Given the description of an element on the screen output the (x, y) to click on. 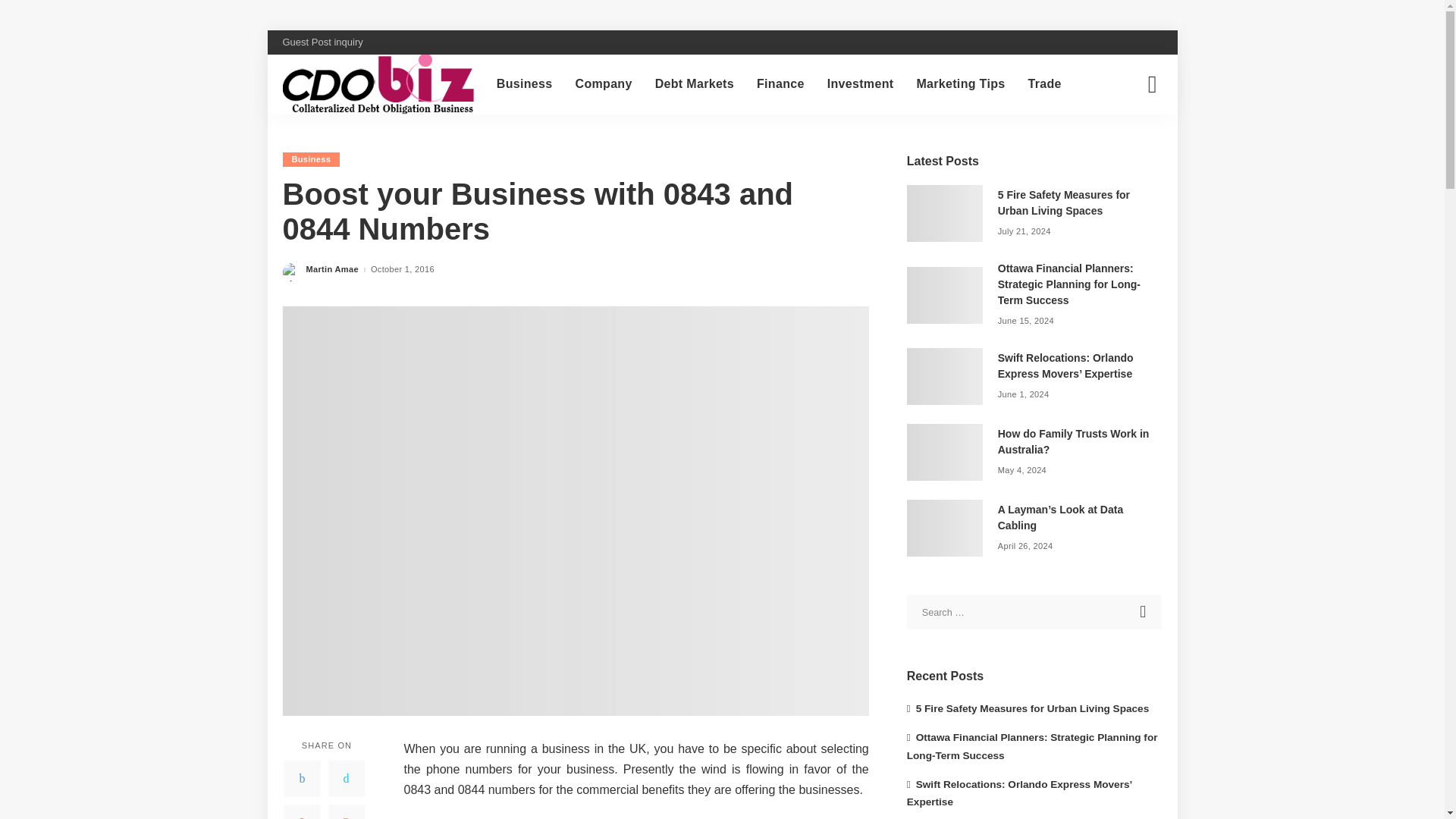
Search (1143, 611)
Company (603, 84)
Trade (1043, 84)
Investment (860, 84)
Marketing Tips (960, 84)
Twitter (345, 778)
Martin Amae (331, 269)
Pinterest (301, 811)
Search (1140, 145)
CDO Biz - Get The Ultimate business services Guide Now! (377, 84)
